Given the description of an element on the screen output the (x, y) to click on. 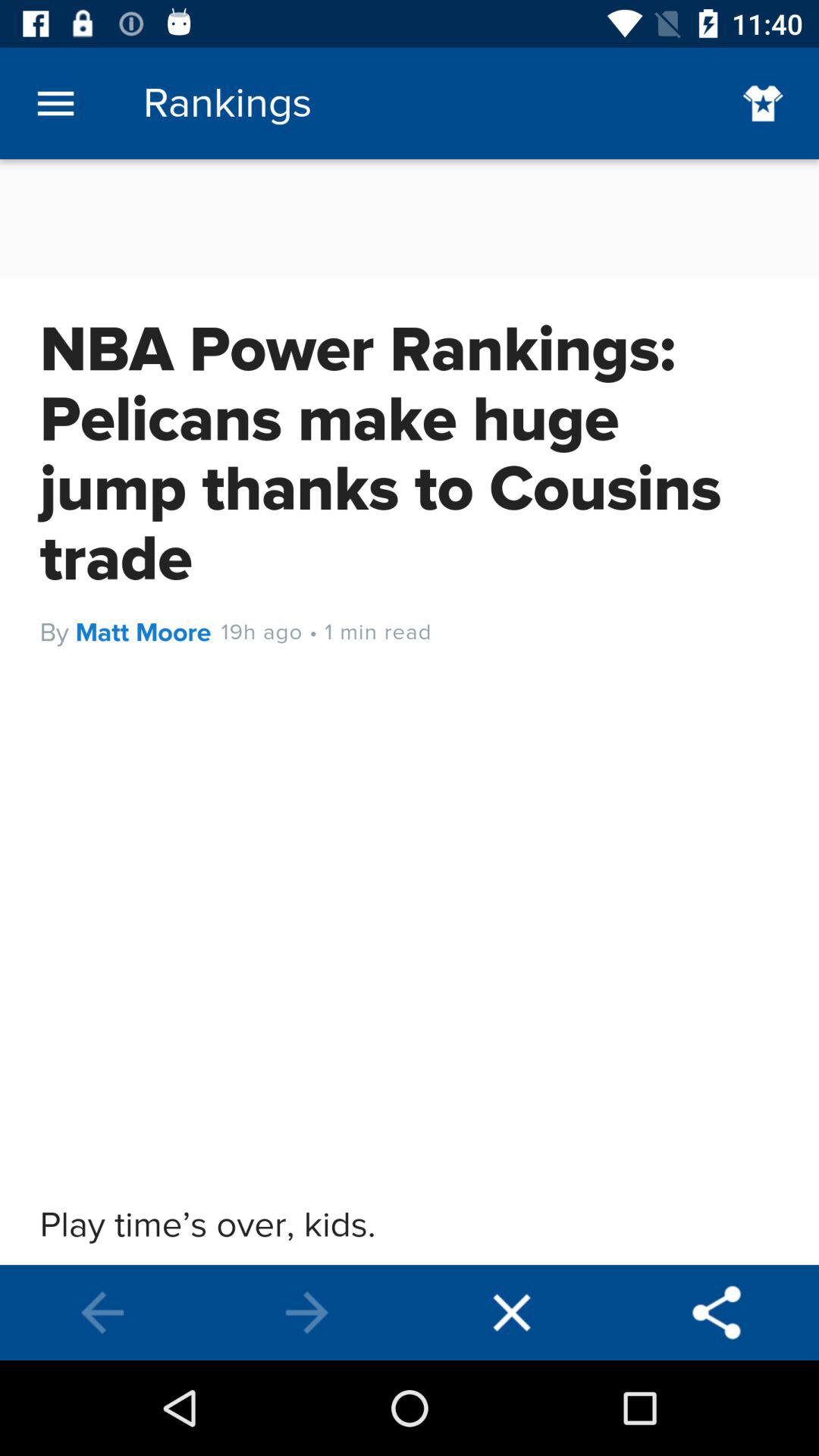
share the article (716, 1312)
